Given the description of an element on the screen output the (x, y) to click on. 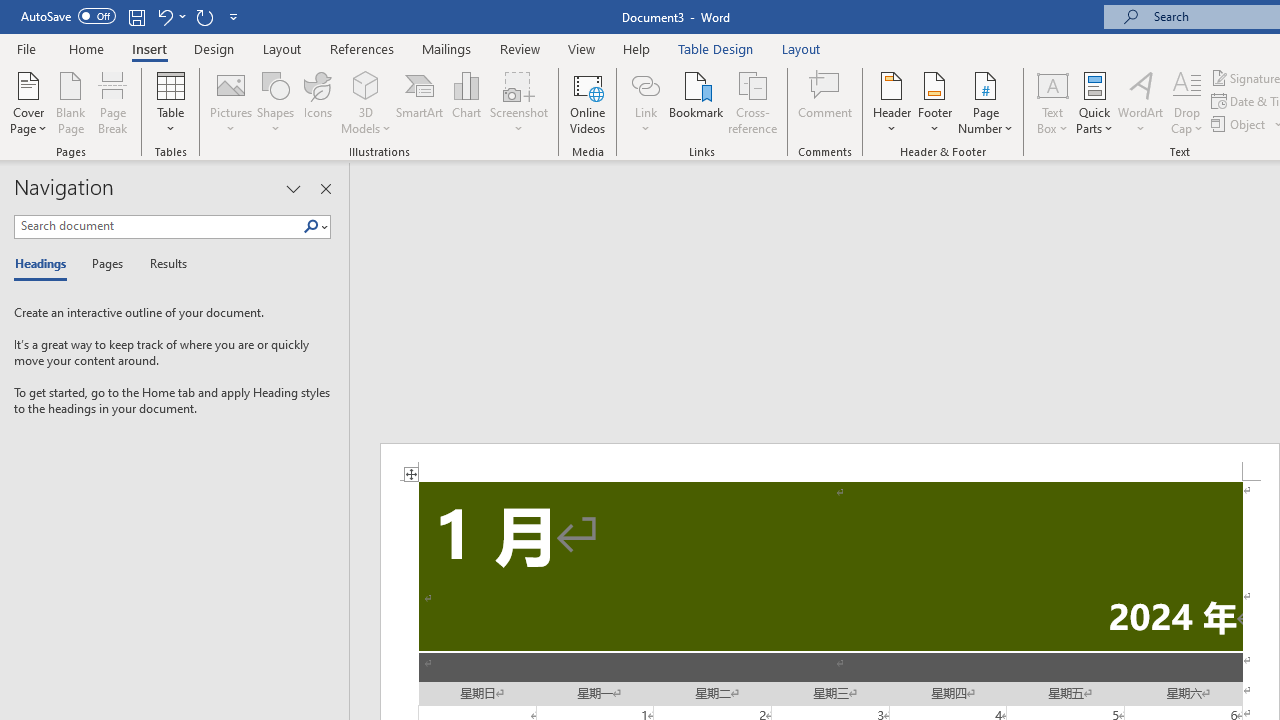
3D Models (366, 84)
Object... (1240, 124)
Table Design (715, 48)
Online Videos... (588, 102)
Search document (157, 226)
Drop Cap (1187, 102)
SmartArt... (419, 102)
Results (161, 264)
